Given the description of an element on the screen output the (x, y) to click on. 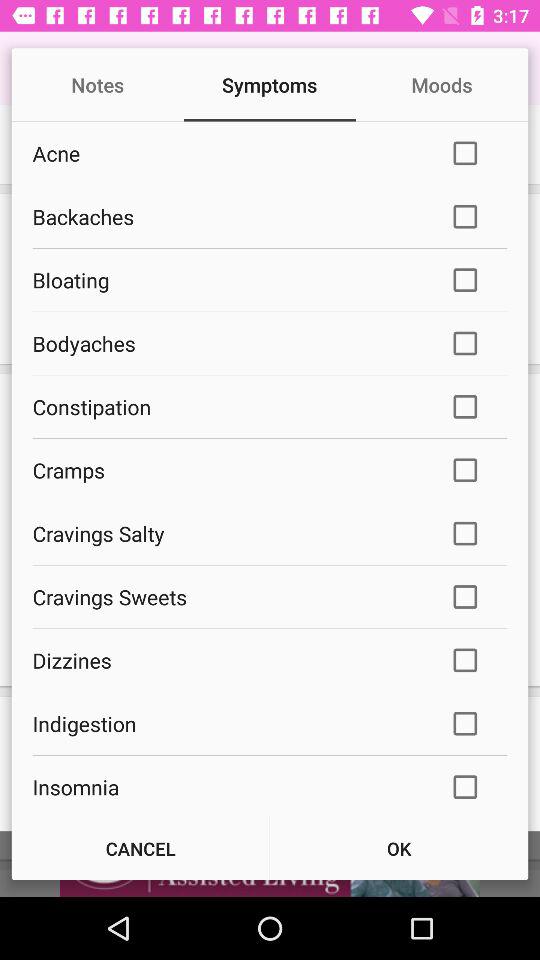
turn off item below the bloating (227, 343)
